Given the description of an element on the screen output the (x, y) to click on. 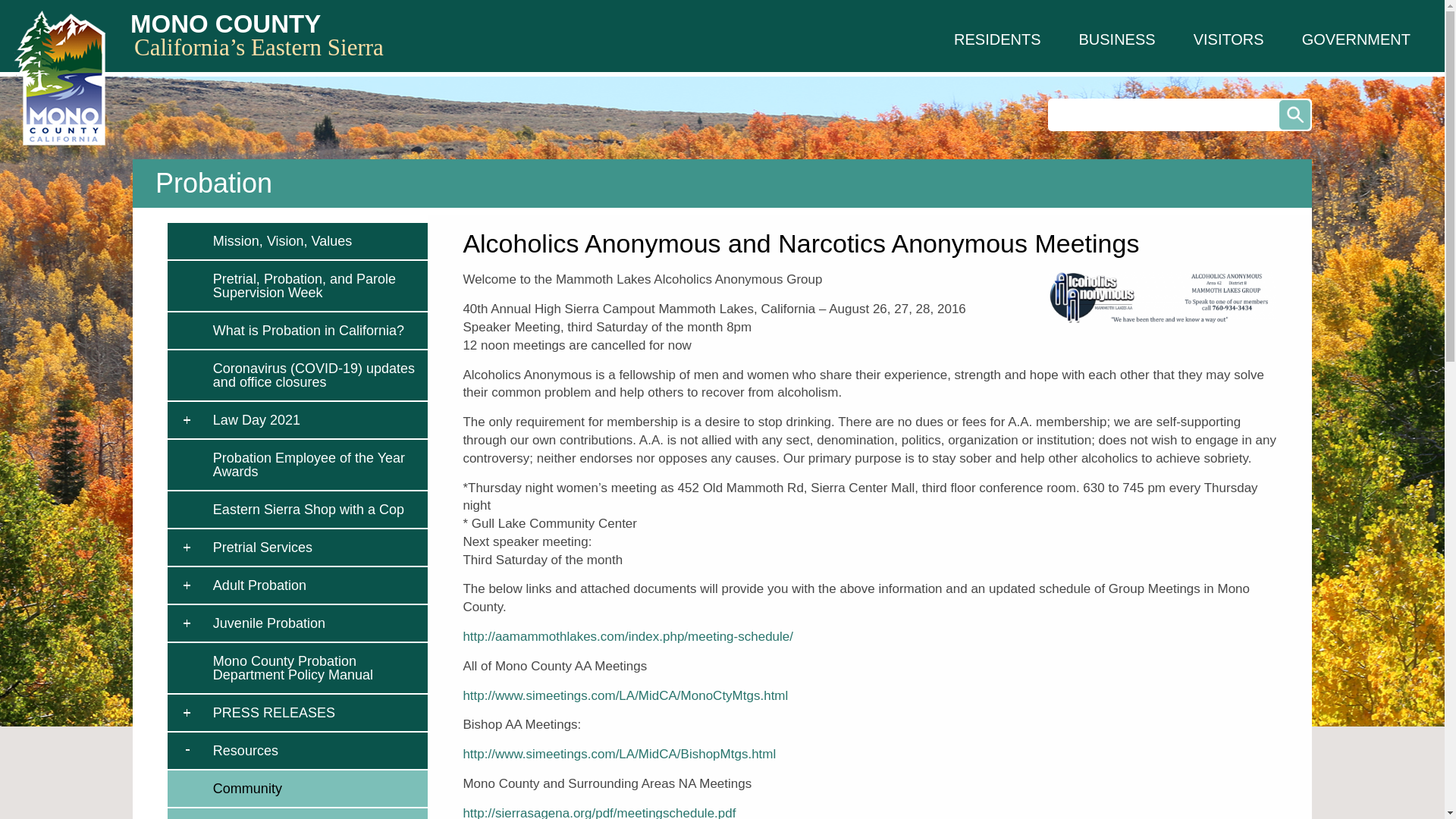
Search (1294, 114)
RESIDENTS (997, 39)
Enter the terms you wish to search for. (1179, 114)
